Given the description of an element on the screen output the (x, y) to click on. 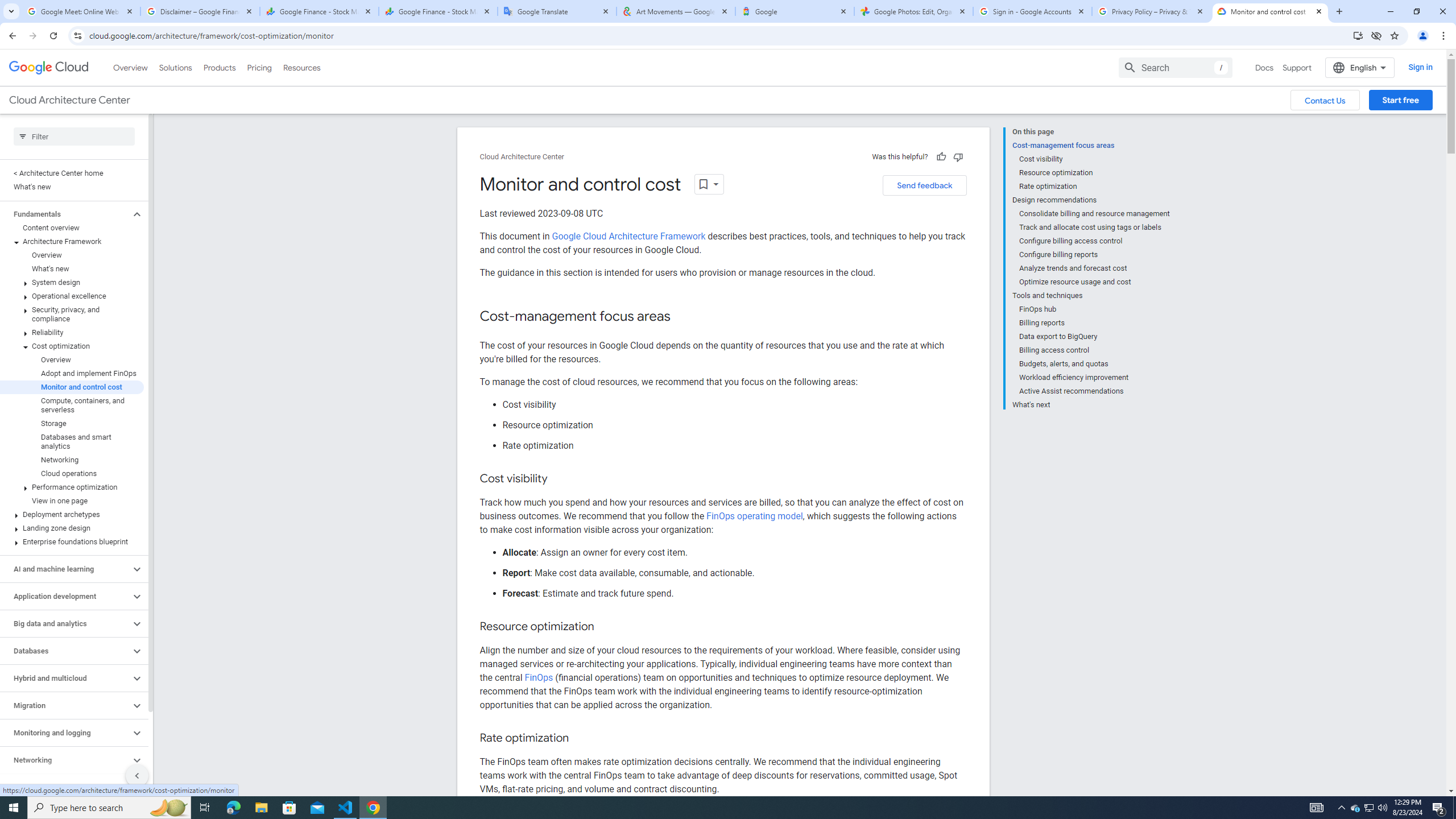
FinOps hub (1094, 309)
Resources (301, 67)
AI and machine learning (64, 568)
Databases (64, 650)
Cost visibility (1094, 159)
Contact Us (1324, 100)
Cloud operations (72, 473)
Pricing (259, 67)
Copy link to this section: Resource optimization (605, 626)
Install Google Cloud (1358, 35)
